Given the description of an element on the screen output the (x, y) to click on. 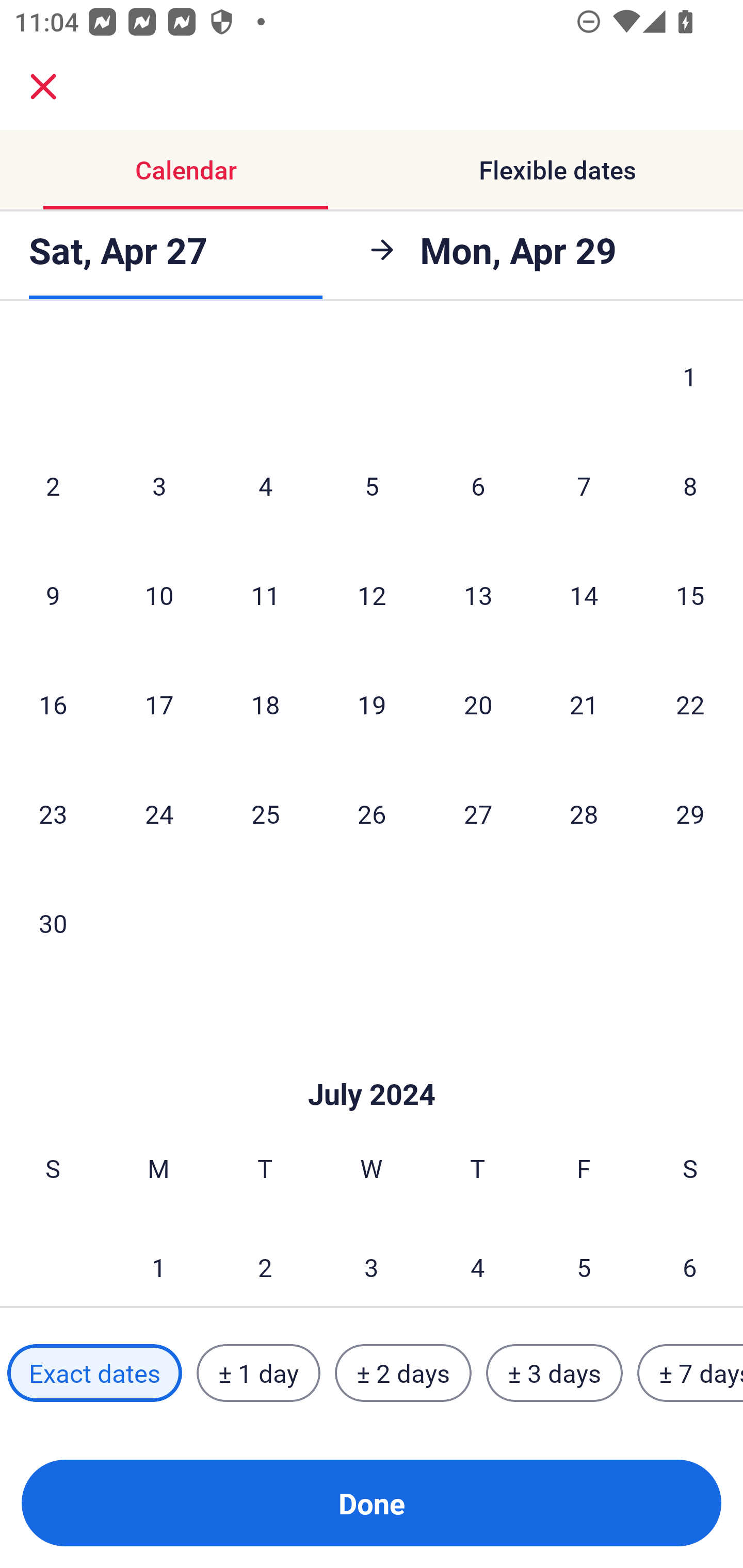
close. (43, 86)
Flexible dates (557, 170)
1 Saturday, June 1, 2024 (689, 379)
2 Sunday, June 2, 2024 (53, 484)
3 Monday, June 3, 2024 (159, 484)
4 Tuesday, June 4, 2024 (265, 484)
5 Wednesday, June 5, 2024 (371, 484)
6 Thursday, June 6, 2024 (477, 484)
7 Friday, June 7, 2024 (584, 484)
8 Saturday, June 8, 2024 (690, 484)
9 Sunday, June 9, 2024 (53, 594)
10 Monday, June 10, 2024 (159, 594)
11 Tuesday, June 11, 2024 (265, 594)
12 Wednesday, June 12, 2024 (371, 594)
13 Thursday, June 13, 2024 (477, 594)
14 Friday, June 14, 2024 (584, 594)
15 Saturday, June 15, 2024 (690, 594)
16 Sunday, June 16, 2024 (53, 703)
17 Monday, June 17, 2024 (159, 703)
18 Tuesday, June 18, 2024 (265, 703)
19 Wednesday, June 19, 2024 (371, 703)
20 Thursday, June 20, 2024 (477, 703)
21 Friday, June 21, 2024 (584, 703)
22 Saturday, June 22, 2024 (690, 703)
23 Sunday, June 23, 2024 (53, 813)
24 Monday, June 24, 2024 (159, 813)
25 Tuesday, June 25, 2024 (265, 813)
26 Wednesday, June 26, 2024 (371, 813)
27 Thursday, June 27, 2024 (477, 813)
28 Friday, June 28, 2024 (584, 813)
29 Saturday, June 29, 2024 (690, 813)
30 Sunday, June 30, 2024 (53, 922)
Skip to Done (371, 1063)
1 Monday, July 1, 2024 (158, 1259)
2 Tuesday, July 2, 2024 (264, 1259)
3 Wednesday, July 3, 2024 (371, 1259)
4 Thursday, July 4, 2024 (477, 1259)
5 Friday, July 5, 2024 (583, 1259)
6 Saturday, July 6, 2024 (689, 1259)
Exact dates (94, 1372)
± 1 day (258, 1372)
± 2 days (403, 1372)
± 3 days (553, 1372)
± 7 days (690, 1372)
Done (371, 1502)
